Given the description of an element on the screen output the (x, y) to click on. 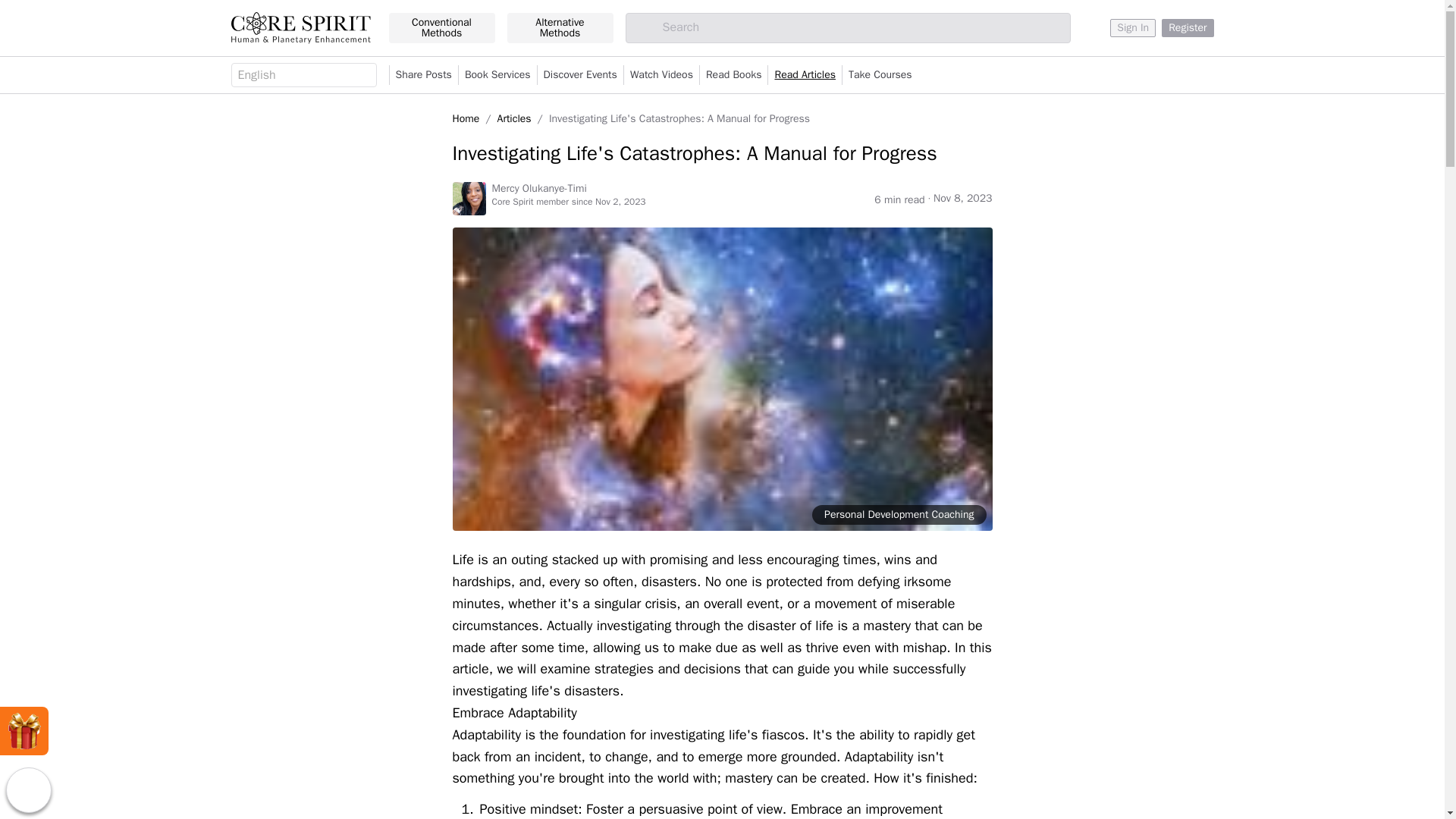
Share Posts (423, 75)
Book Services (497, 75)
Conventional Methods (441, 28)
Register (1186, 27)
Back to top (27, 790)
Alternative Methods (559, 28)
Sign In (1132, 27)
